Given the description of an element on the screen output the (x, y) to click on. 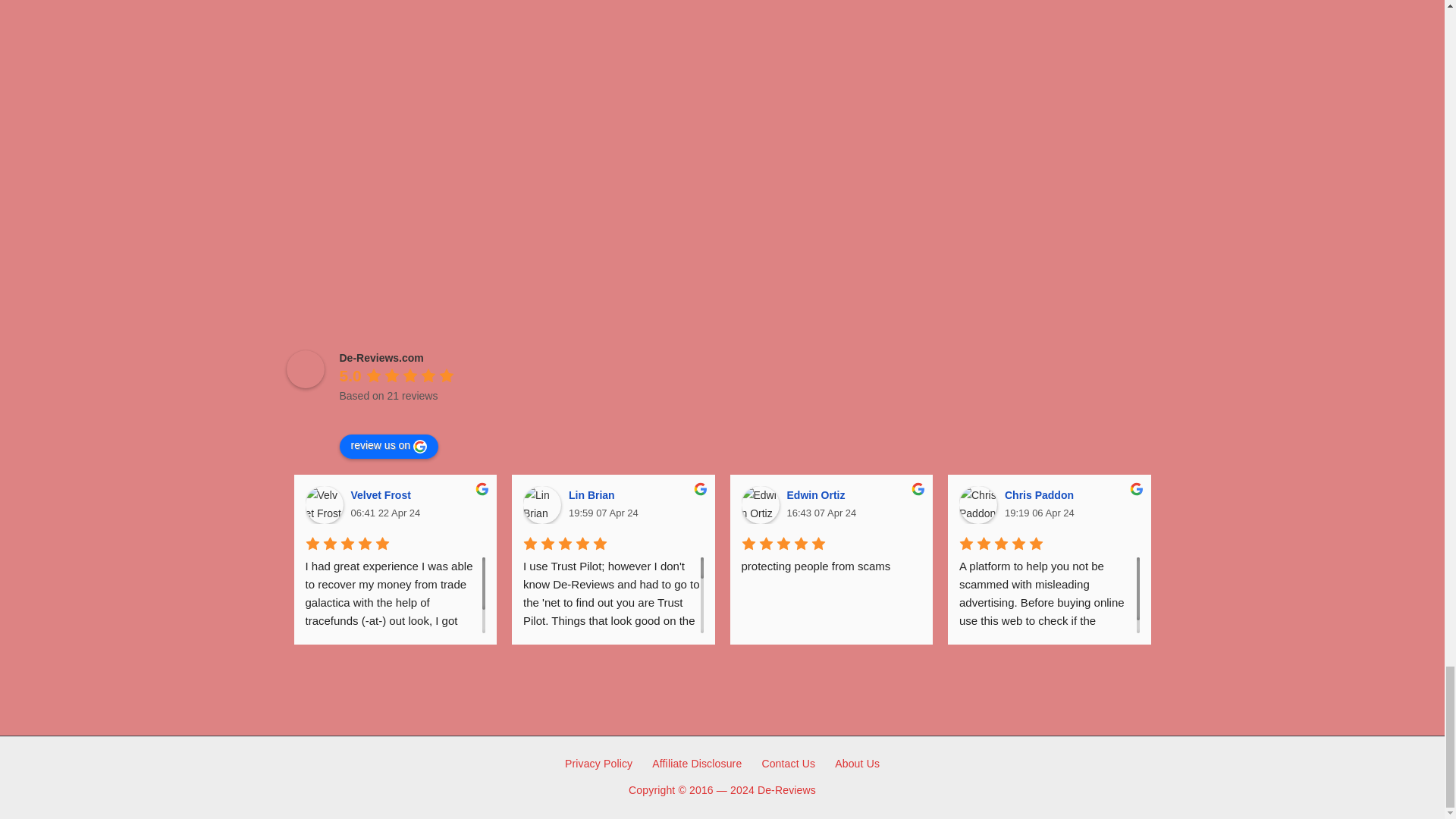
Velvet Frost (323, 505)
powered by Google (393, 414)
De-Reviews.com (305, 369)
